Given the description of an element on the screen output the (x, y) to click on. 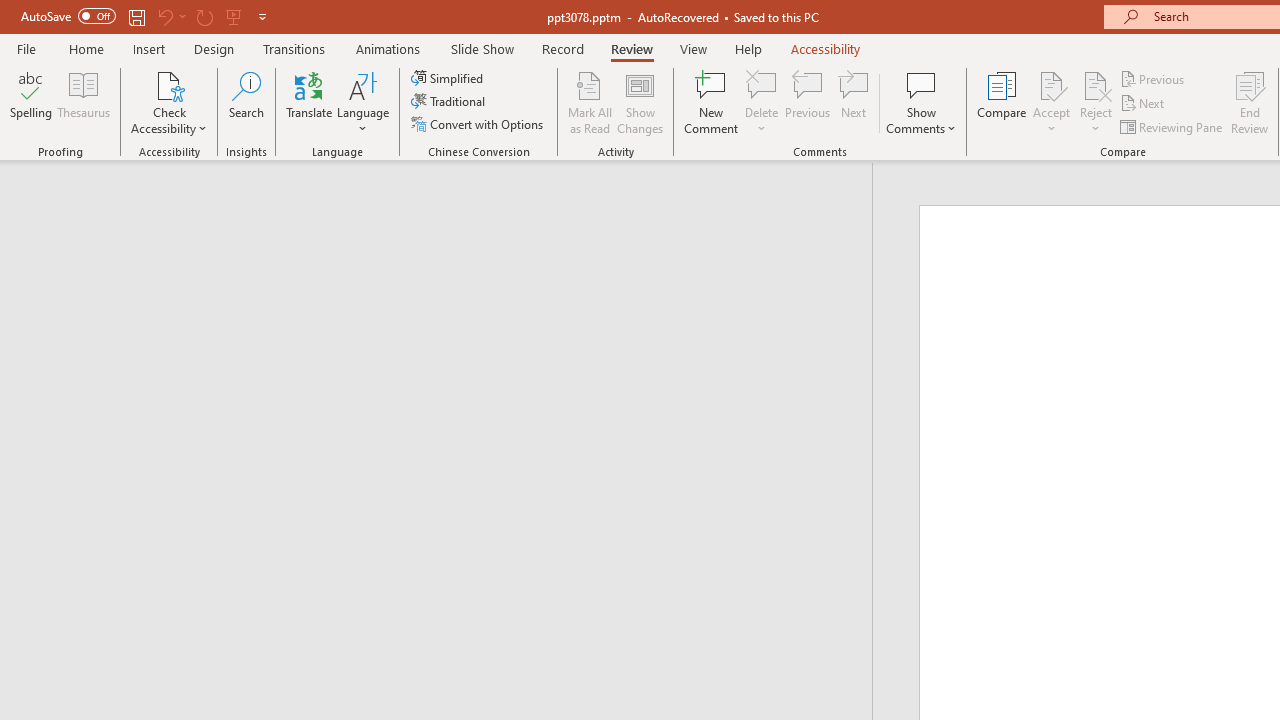
Previous (1153, 78)
Thesaurus... (83, 102)
Traditional (449, 101)
Reject (1096, 102)
